Given the description of an element on the screen output the (x, y) to click on. 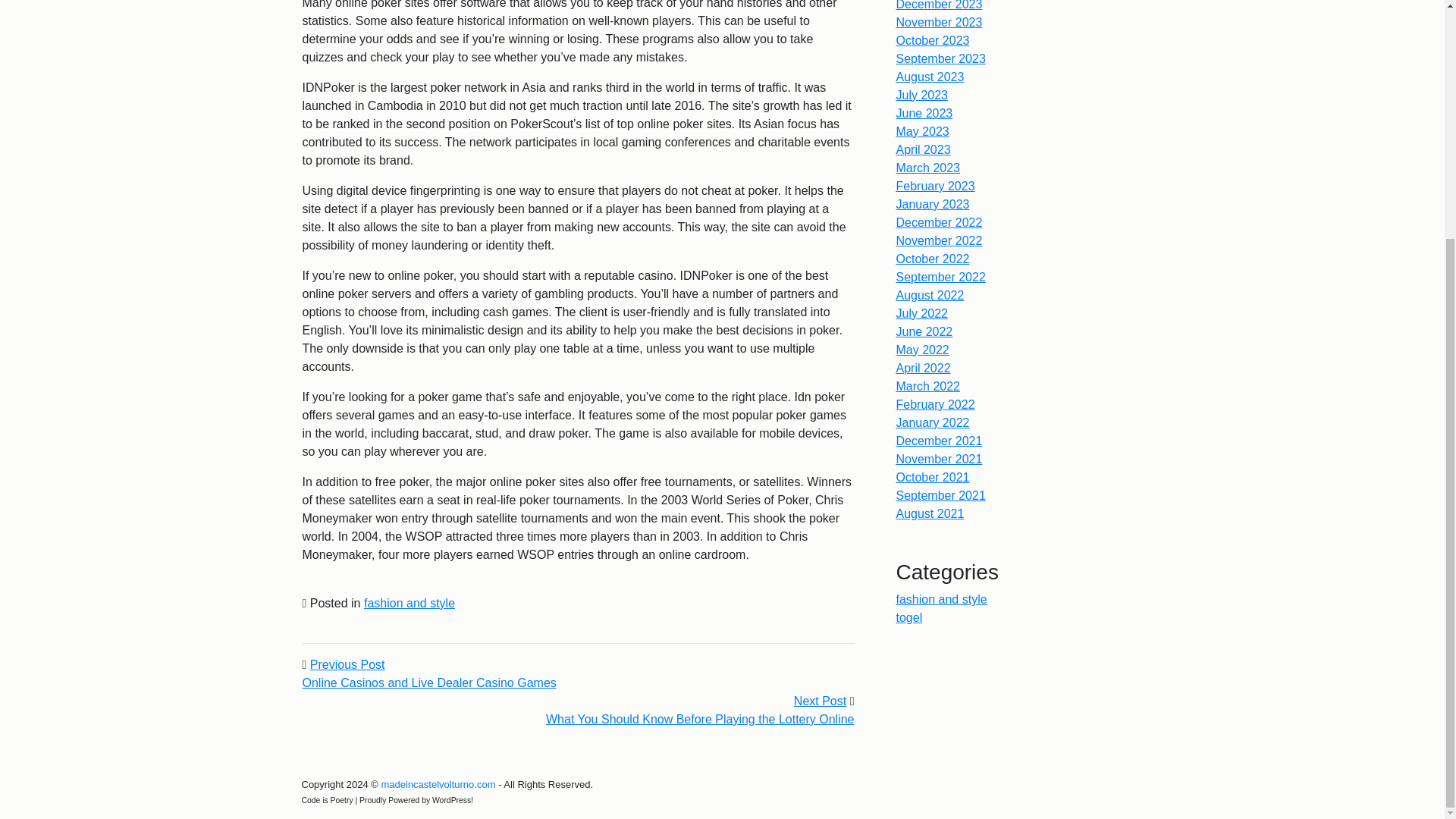
March 2023 (928, 167)
June 2022 (924, 331)
November 2022 (939, 240)
February 2023 (935, 185)
January 2023 (932, 204)
June 2023 (924, 113)
December 2022 (939, 222)
November 2023 (939, 21)
July 2023 (922, 94)
July 2022 (922, 313)
August 2023 (929, 76)
May 2023 (922, 131)
August 2022 (929, 295)
